Given the description of an element on the screen output the (x, y) to click on. 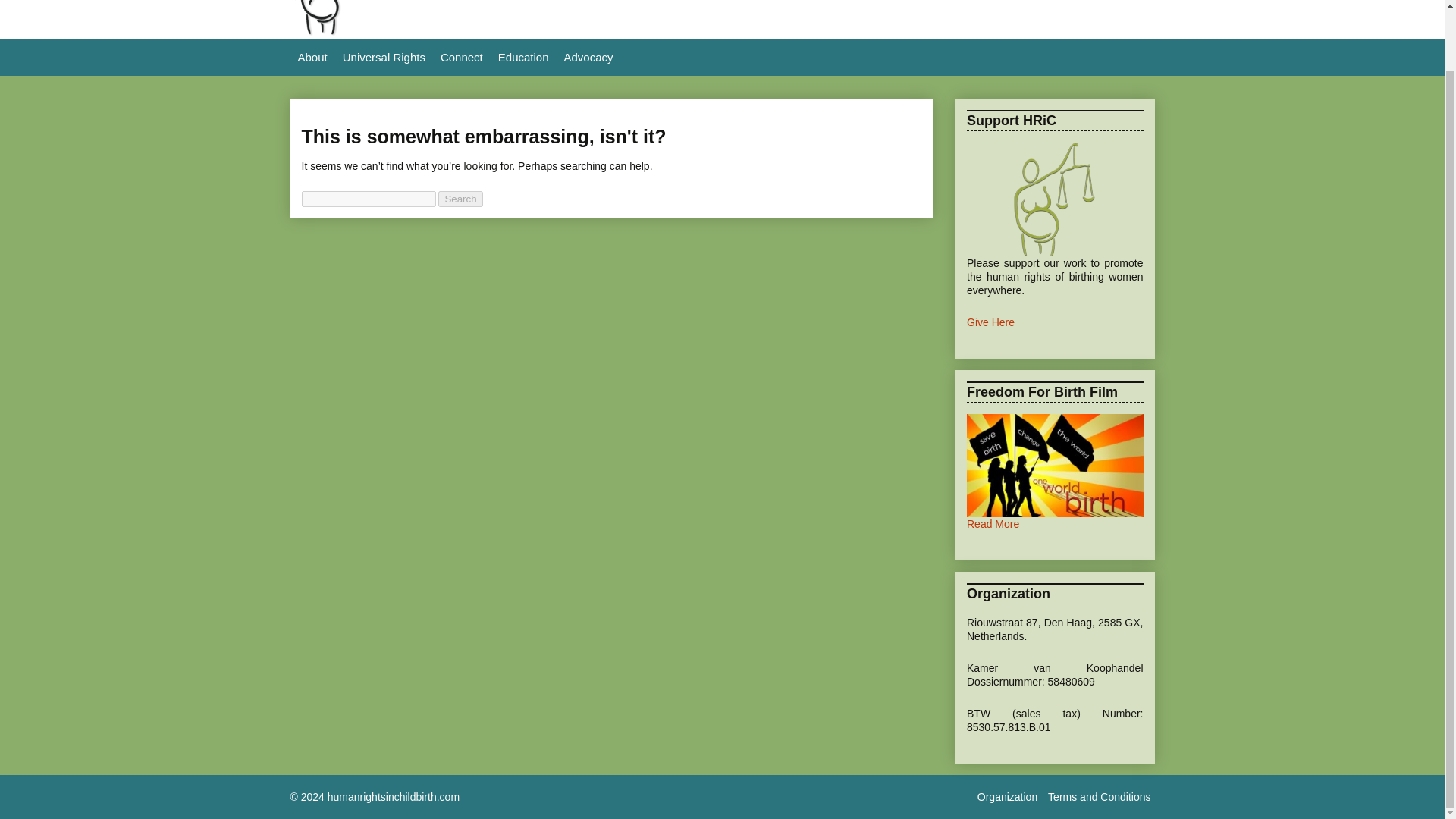
Education (523, 57)
Search (459, 198)
Terms and Conditions (1098, 796)
Logo (333, 32)
Organization (1007, 796)
Connect (461, 57)
Give Here (990, 322)
Read More (992, 523)
About (311, 57)
Universal Rights (383, 57)
